Given the description of an element on the screen output the (x, y) to click on. 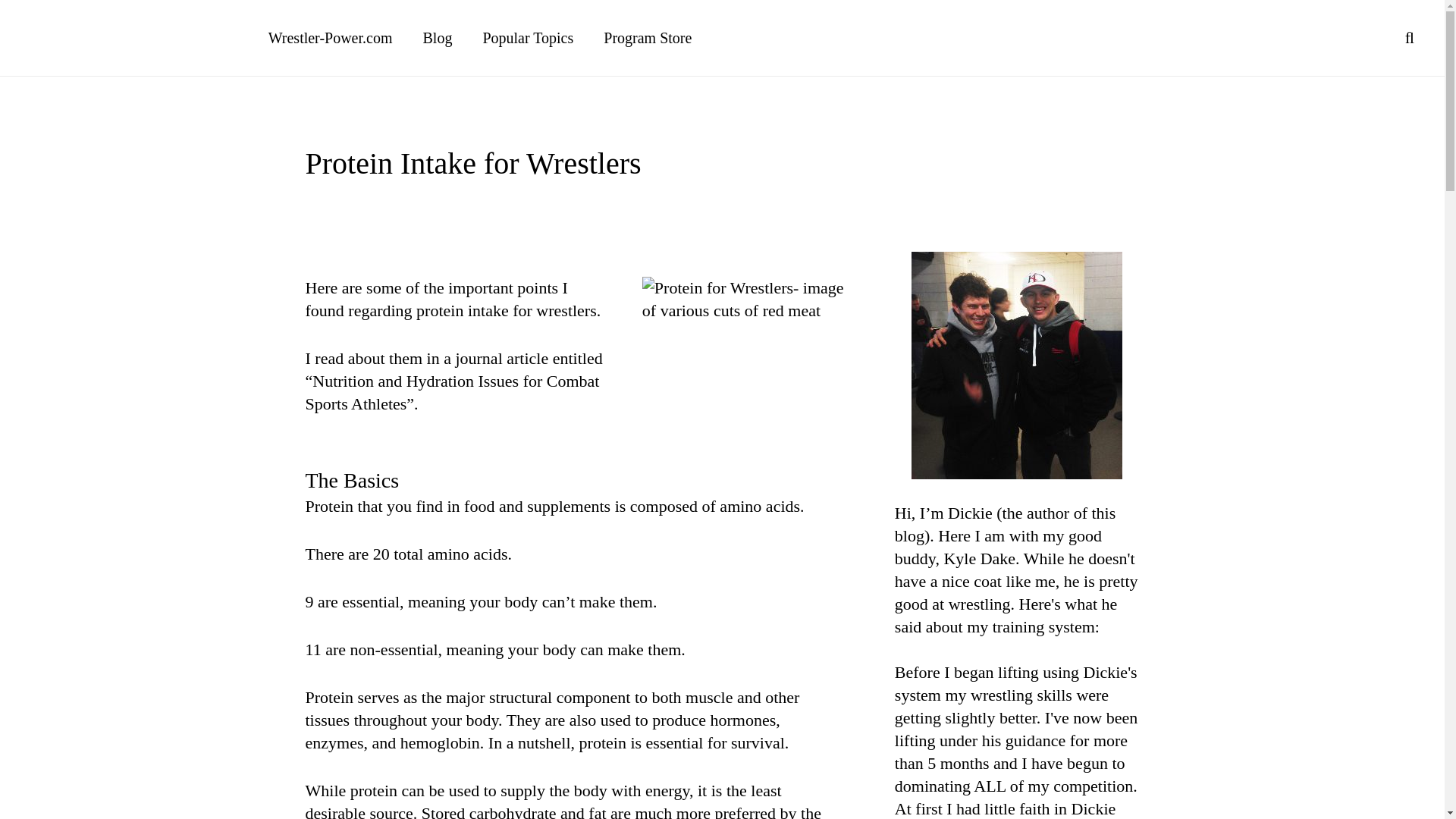
Popular Topics (527, 38)
Wrestler-Power.com (330, 38)
Program Store (647, 38)
